Given the description of an element on the screen output the (x, y) to click on. 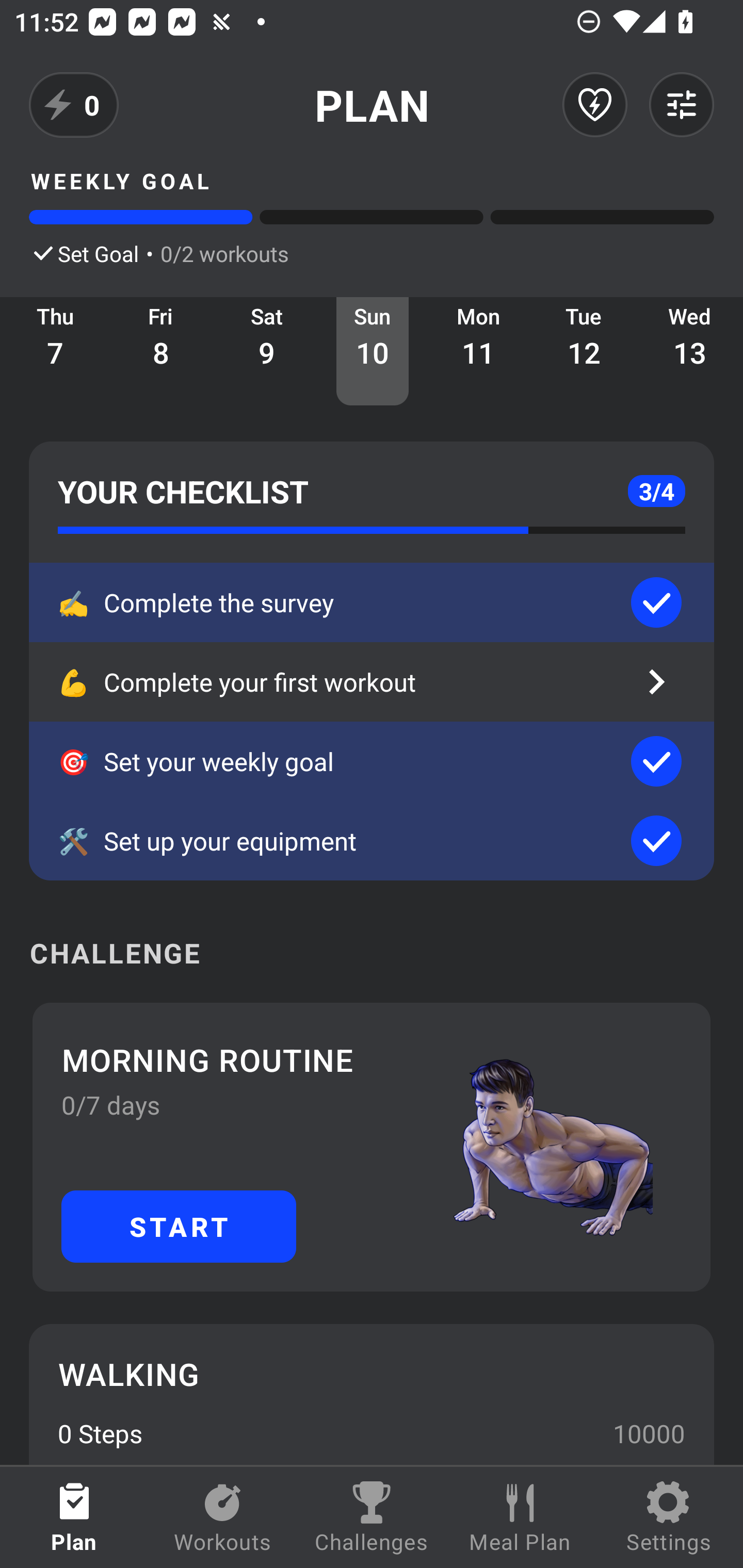
0 (73, 104)
Thu 7 (55, 351)
Fri 8 (160, 351)
Sat 9 (266, 351)
Sun 10 (372, 351)
Mon 11 (478, 351)
Tue 12 (584, 351)
Wed 13 (690, 351)
💪 Complete your first workout (371, 681)
MORNING ROUTINE 0/7 days START (371, 1146)
START (178, 1226)
WALKING 0 Steps 10000 (371, 1393)
 Workouts  (222, 1517)
 Challenges  (371, 1517)
 Meal Plan  (519, 1517)
 Settings  (668, 1517)
